Given the description of an element on the screen output the (x, y) to click on. 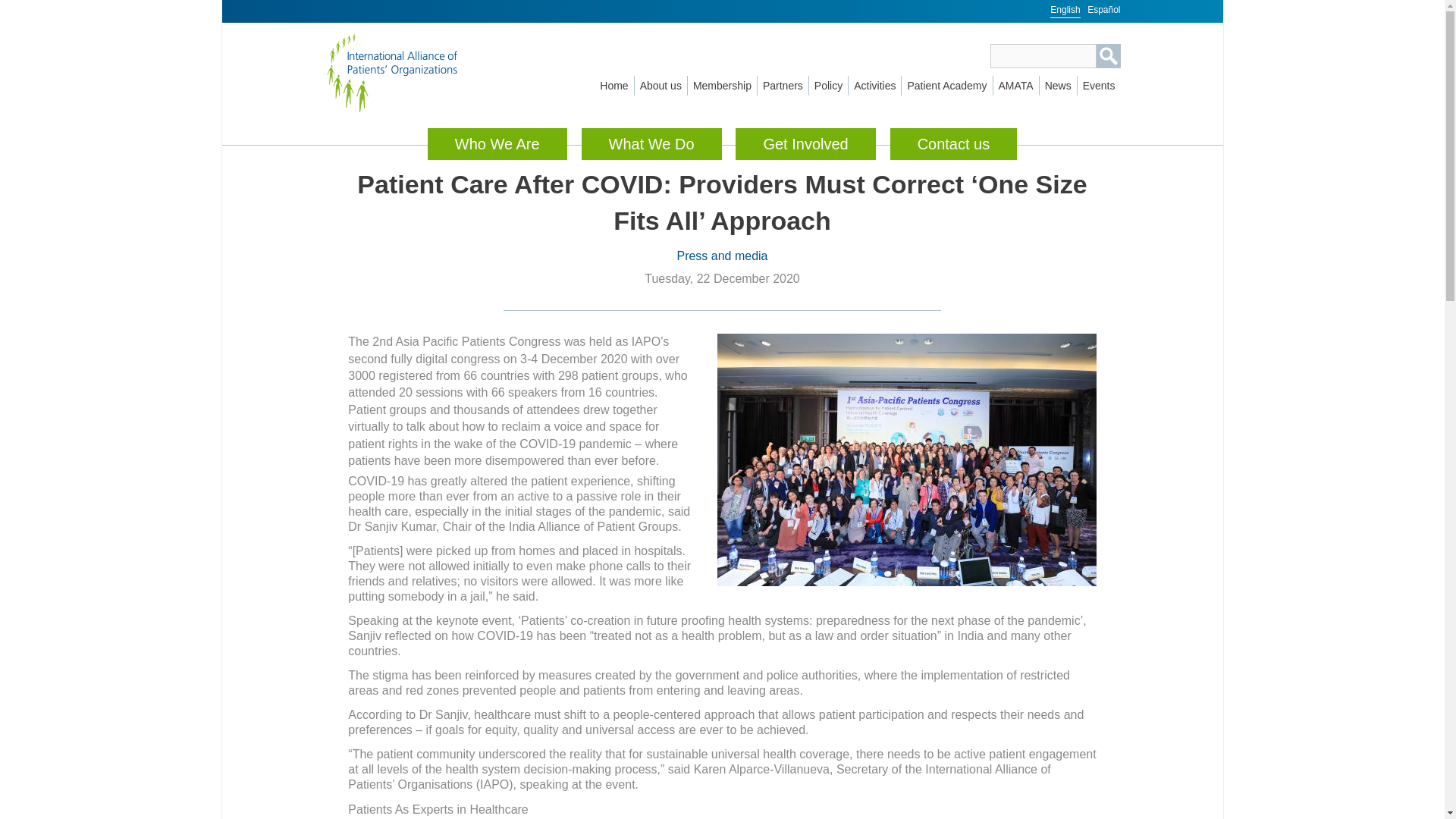
Partners (782, 85)
Policy (828, 85)
English (1064, 9)
Membership (722, 85)
About us (660, 85)
Activities (874, 85)
Home (408, 73)
Search (1108, 55)
